Given the description of an element on the screen output the (x, y) to click on. 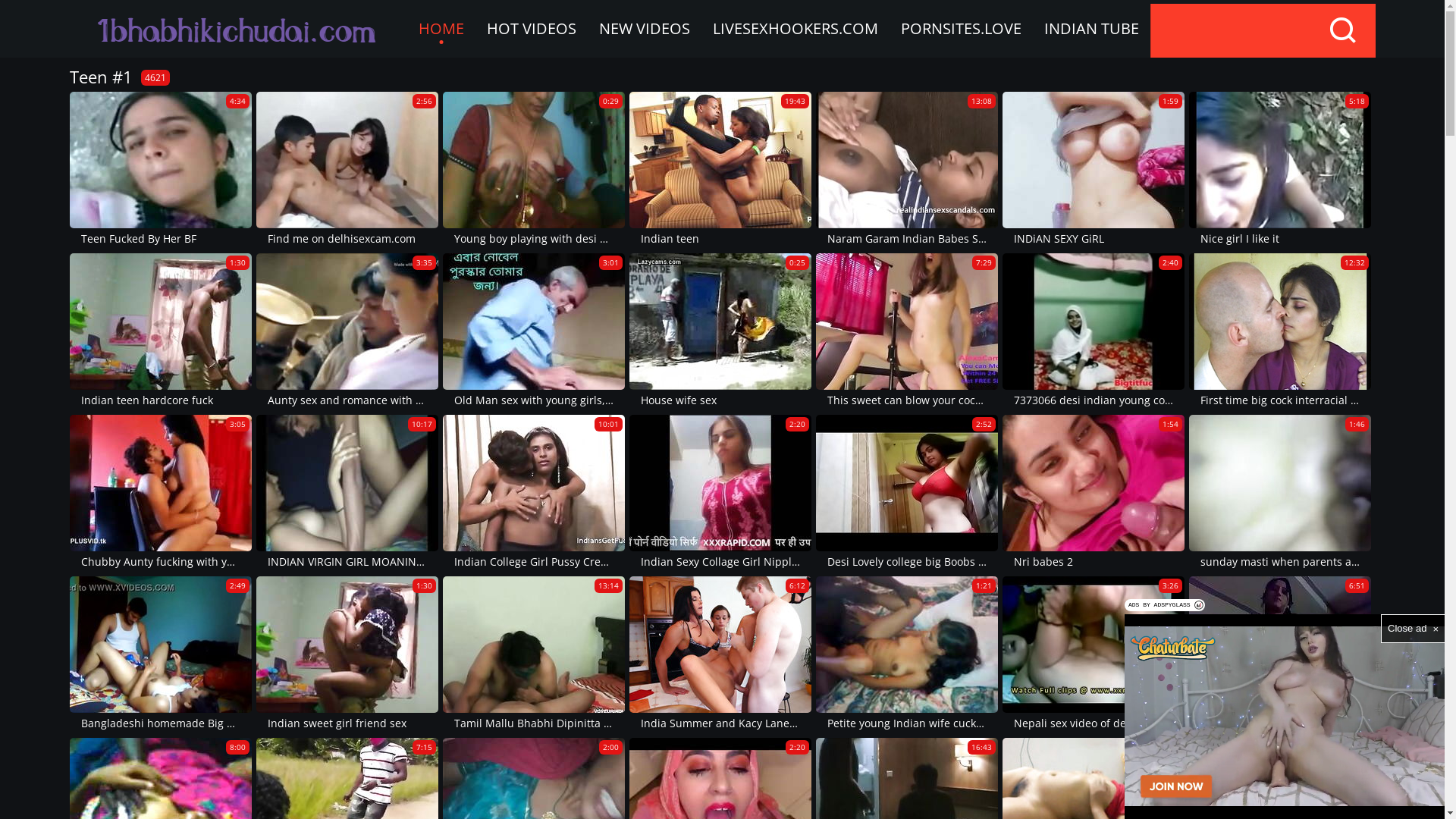
1:21
Petite young Indian wife cucks lucky hubby with BBC Element type: text (906, 654)
ADS BY ADSPYGLASS Element type: text (1164, 605)
5:18
Nice girl I like it Element type: text (1280, 169)
HOT VIDEOS Element type: text (530, 28)
1:59
INDiAN SEXY GiRL Element type: text (1093, 169)
1:30
Indian teen hardcore fuck Element type: text (160, 331)
1:54
Nri babes 2 Element type: text (1093, 492)
3:05
Chubby Aunty fucking with young guy Element type: text (160, 492)
2:56
Find me on delhisexcam.com Element type: text (347, 169)
2:40
7373066 desi indian young college lovers fucking Element type: text (1093, 331)
3:35
Aunty sex and romance with her step husband bollywood Element type: text (347, 331)
3:01
Old Man sex with young girls, Anal Sex Element type: text (533, 331)
LIVESEXHOOKERS.COM Element type: text (794, 28)
0:25
House wife sex Element type: text (720, 331)
0:29
Young boy playing with desi aunty's big boobs Element type: text (533, 169)
2:20
Indian Sexy Collage Girl Nipple Show Element type: text (720, 492)
3:26
Nepali sex video of desi maid with young Delhi ghashti Element type: text (1093, 654)
19:43
Indian teen Element type: text (720, 169)
12:32
First time big cock interracial for shy indian teen Element type: text (1280, 331)
1:30
Indian sweet girl friend sex Element type: text (347, 654)
1:46
sunday masti when parents are out Element type: text (1280, 492)
NEW VIDEOS Element type: text (643, 28)
2:52
Desi Lovely college big Boobs teen Element type: text (906, 492)
10:01
Indian College Girl Pussy Creampie Element type: text (533, 492)
PORNSITES.LOVE Element type: text (960, 28)
4:34
Teen Fucked By Her BF Element type: text (160, 169)
INDIAN TUBE Element type: text (1091, 28)
13:08
Naram Garam Indian Babes Sex Element type: text (906, 169)
6:12
India Summer and Kacy Lane kitchen trio Element type: text (720, 654)
HOME Element type: text (440, 28)
